Given the description of an element on the screen output the (x, y) to click on. 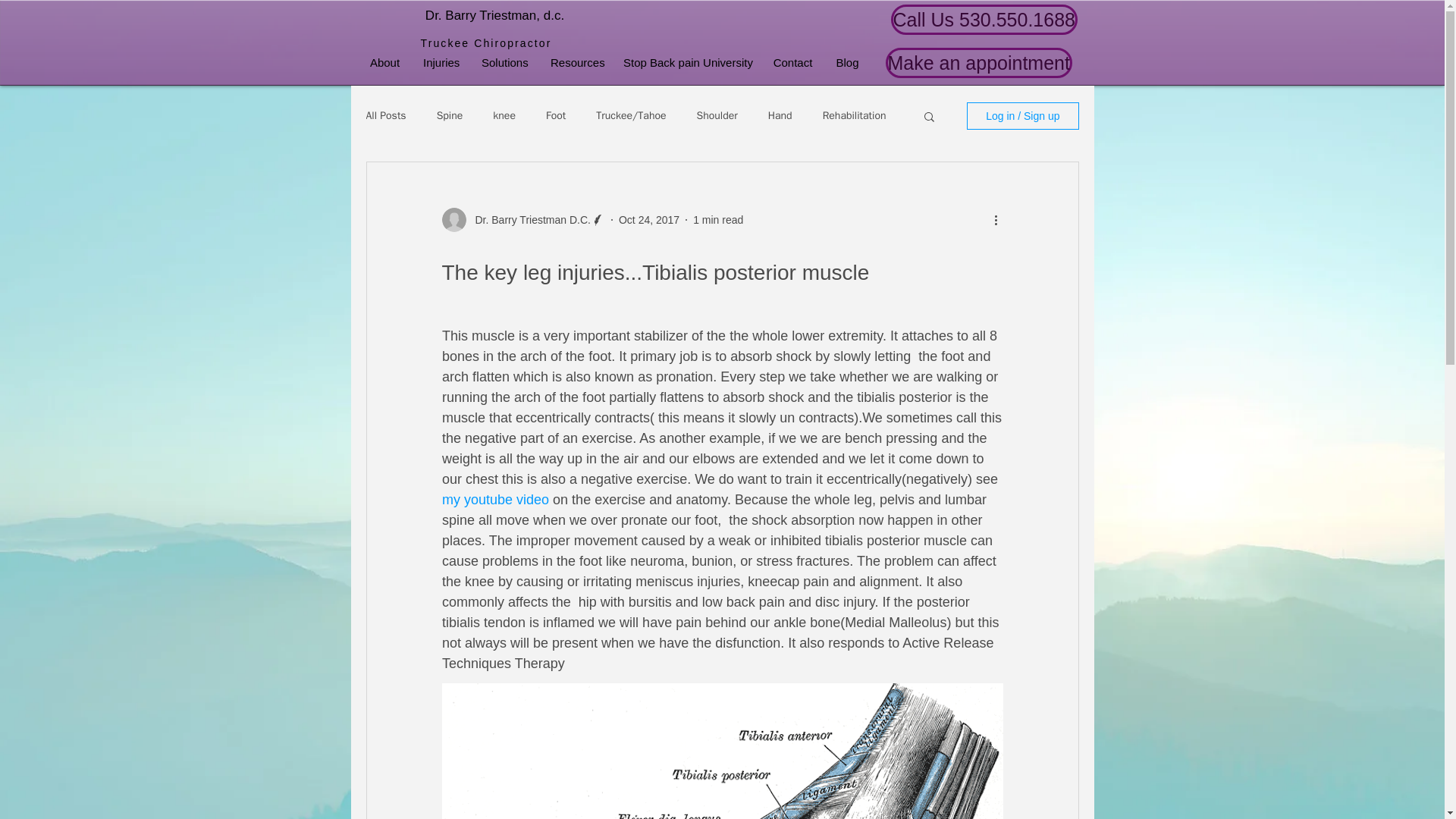
Injuries (441, 62)
Oct 24, 2017 (648, 219)
Resources (574, 62)
About (385, 62)
Dr. Barry Triestman D.C. (527, 220)
1 min read (717, 219)
Dr. Barry Triestman, d.c. (494, 15)
Stop Back pain University (686, 62)
Truckee Chiropractor (485, 42)
Solutions (504, 62)
